Given the description of an element on the screen output the (x, y) to click on. 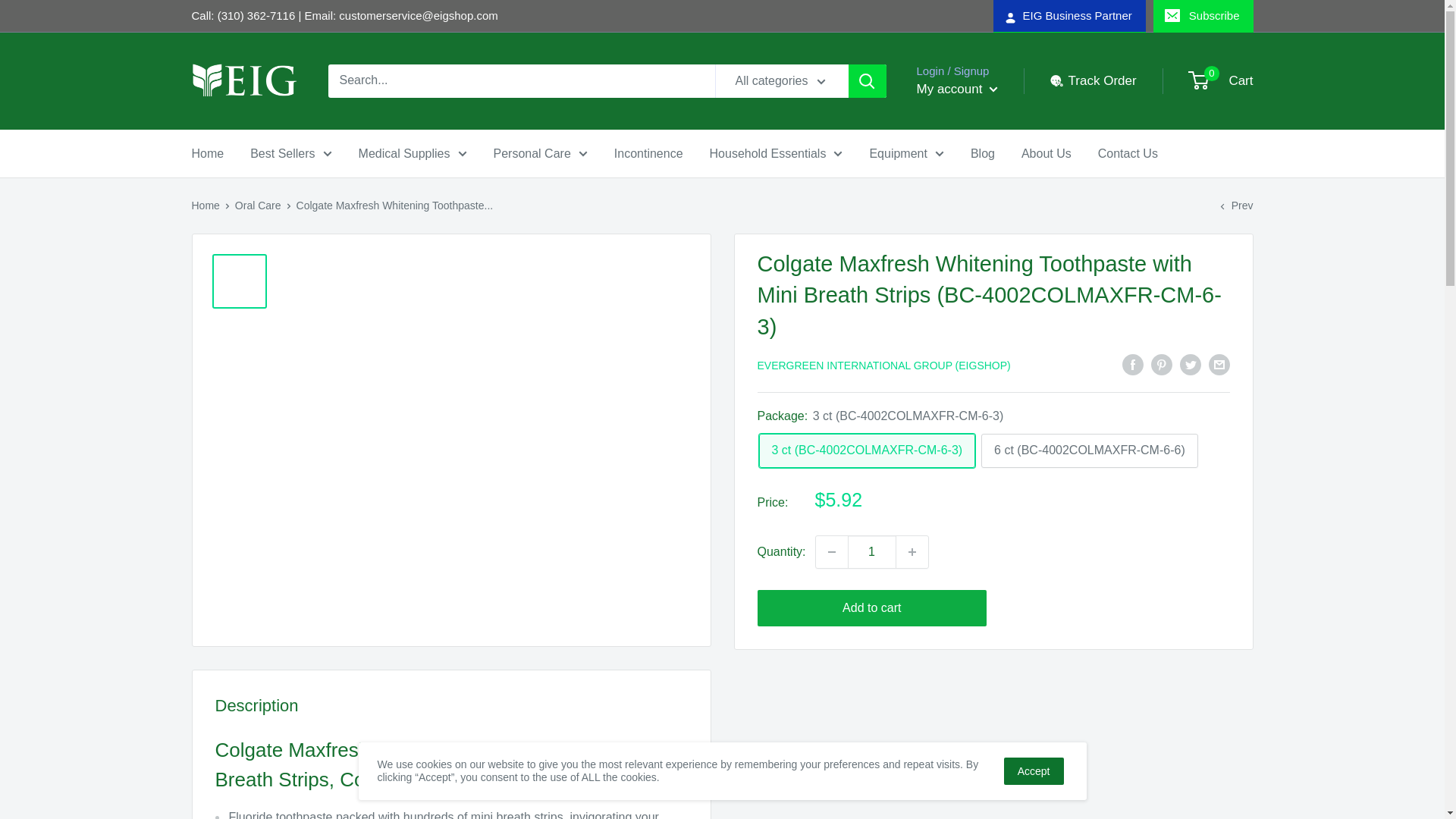
Decrease quantity by 1 (831, 552)
  EIG Business Partner (1068, 15)
Increase quantity by 1 (912, 552)
Subscribe (1203, 15)
1 (871, 552)
